Given the description of an element on the screen output the (x, y) to click on. 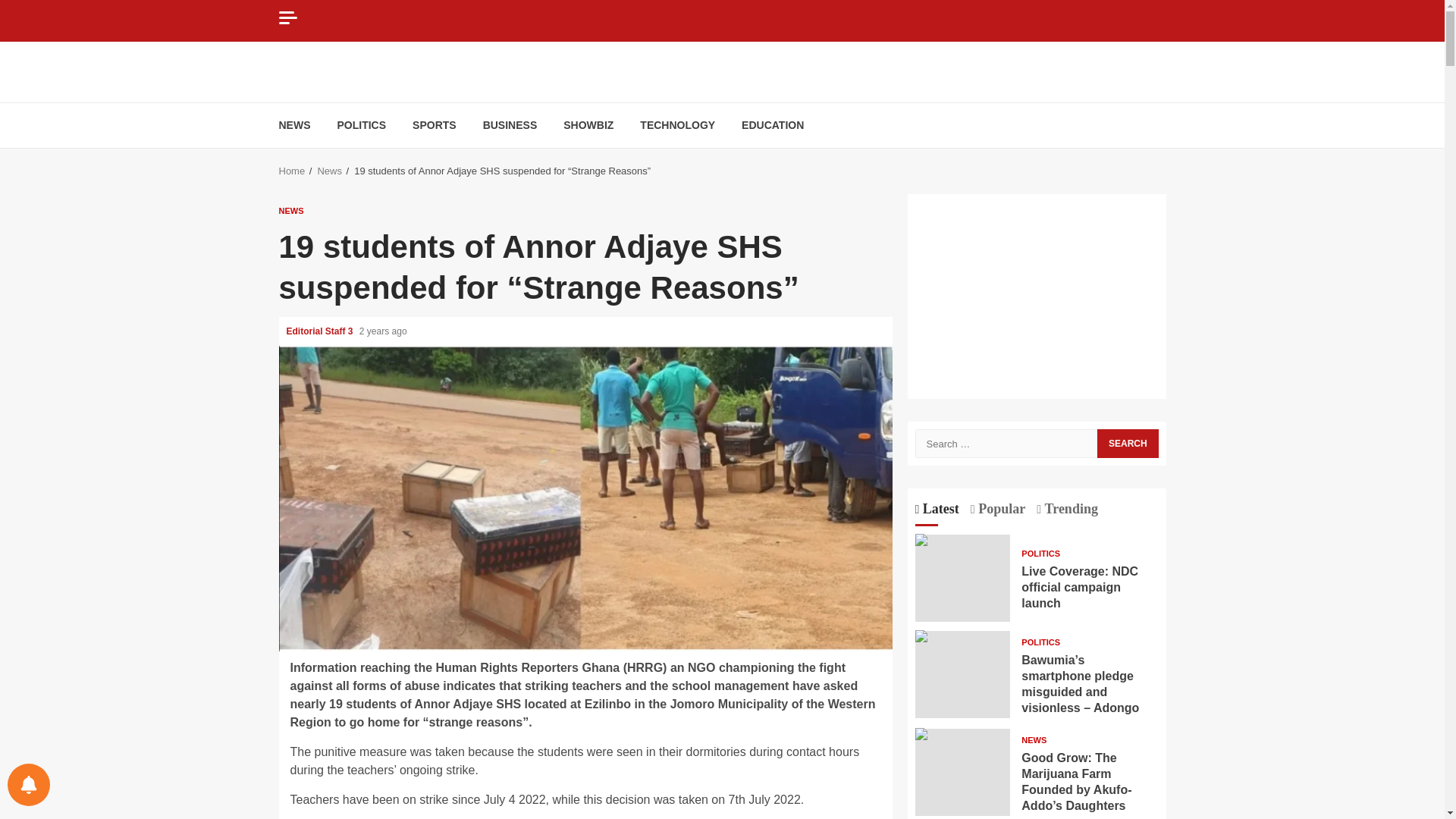
SHOWBIZ (587, 124)
Notifications preferences (28, 784)
NEWS (291, 210)
News (329, 170)
Advertisement (1035, 296)
Editorial Staff 3 (320, 330)
BUSINESS (510, 124)
NEWS (295, 124)
TECHNOLOGY (677, 124)
Search (1127, 443)
Home (292, 170)
SPORTS (434, 124)
Search (1127, 443)
EDUCATION (772, 124)
POLITICS (360, 124)
